Given the description of an element on the screen output the (x, y) to click on. 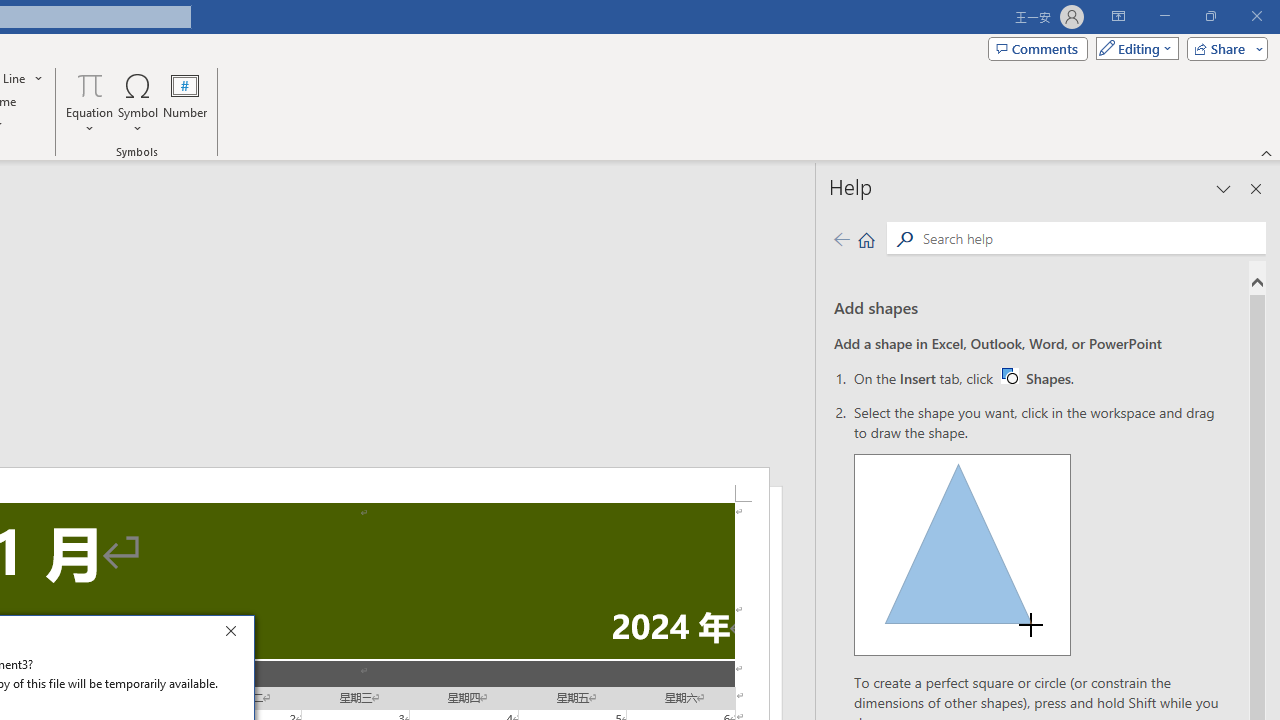
Equation (1036, 377)
Task Pane Options (90, 102)
Word W32 Shapes button icon (1224, 188)
Mode (1009, 375)
Previous page (1133, 47)
